Given the description of an element on the screen output the (x, y) to click on. 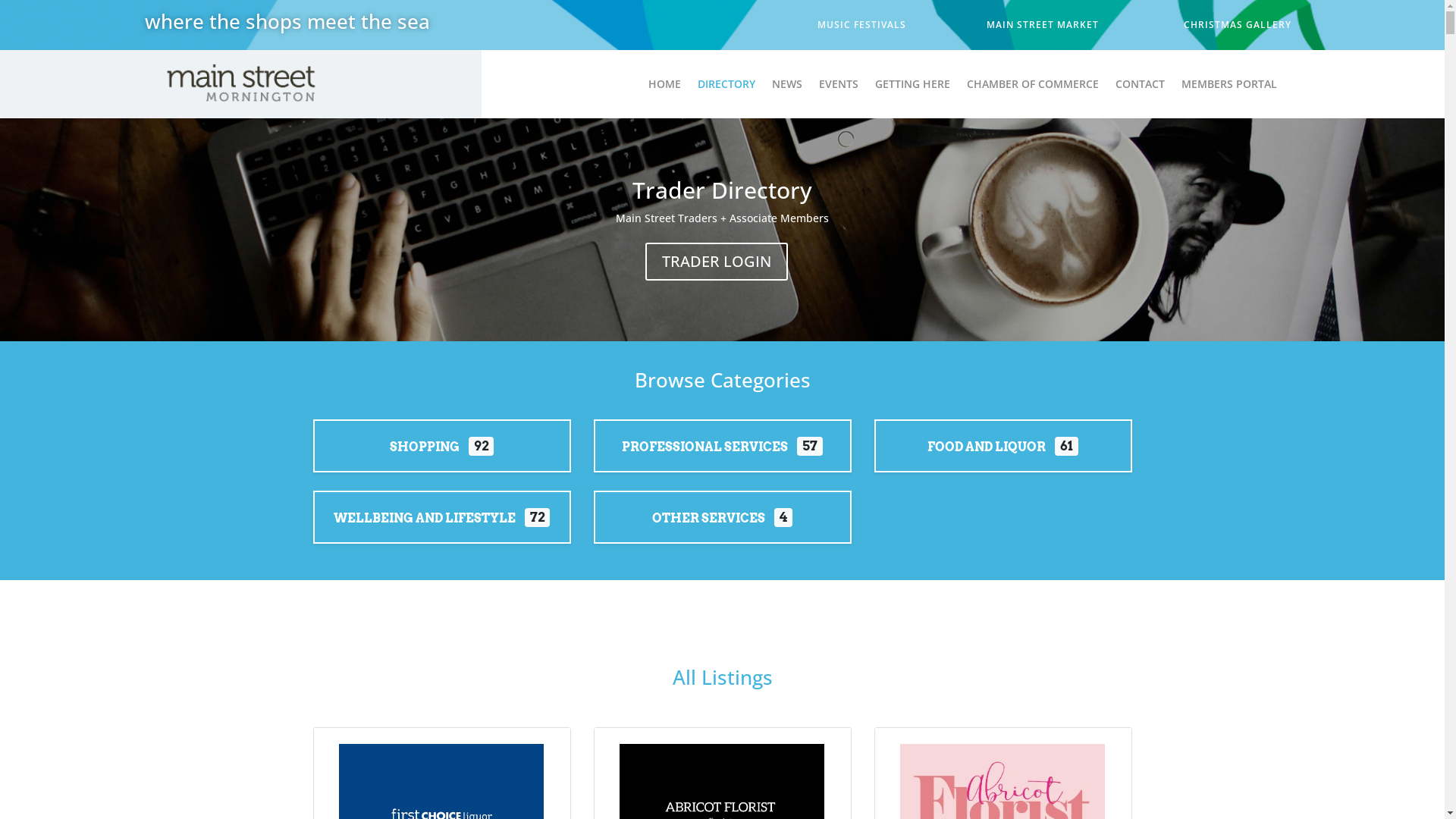
MUSIC FESTIVALS Element type: text (861, 24)
GETTING HERE Element type: text (912, 86)
NEWS Element type: text (786, 86)
WELLBEING AND LIFESTYLE Element type: text (424, 518)
SHOPPING Element type: text (424, 446)
EVENTS Element type: text (838, 86)
EXPAND SUB-CATEGORIES Element type: text (721, 526)
EXPAND SUB-CATEGORIES Element type: text (1002, 454)
CHRISTMAS GALLERY Element type: text (1236, 24)
EXPAND SUB-CATEGORIES Element type: text (440, 454)
PROFESSIONAL SERVICES Element type: text (704, 446)
EXPAND SUB-CATEGORIES Element type: text (721, 454)
MAIN STREET MARKET Element type: text (1041, 24)
MEMBERS PORTAL Element type: text (1229, 86)
FOOD AND LIQUOR Element type: text (986, 446)
EXPAND SUB-CATEGORIES Element type: text (440, 526)
TRADER LOGIN Element type: text (716, 261)
DIRECTORY Element type: text (726, 86)
CHAMBER OF COMMERCE Element type: text (1032, 86)
Main ST Logo-04 Element type: hover (240, 83)
CONTACT Element type: text (1139, 86)
OTHER SERVICES Element type: text (708, 518)
HOME Element type: text (664, 86)
